Given the description of an element on the screen output the (x, y) to click on. 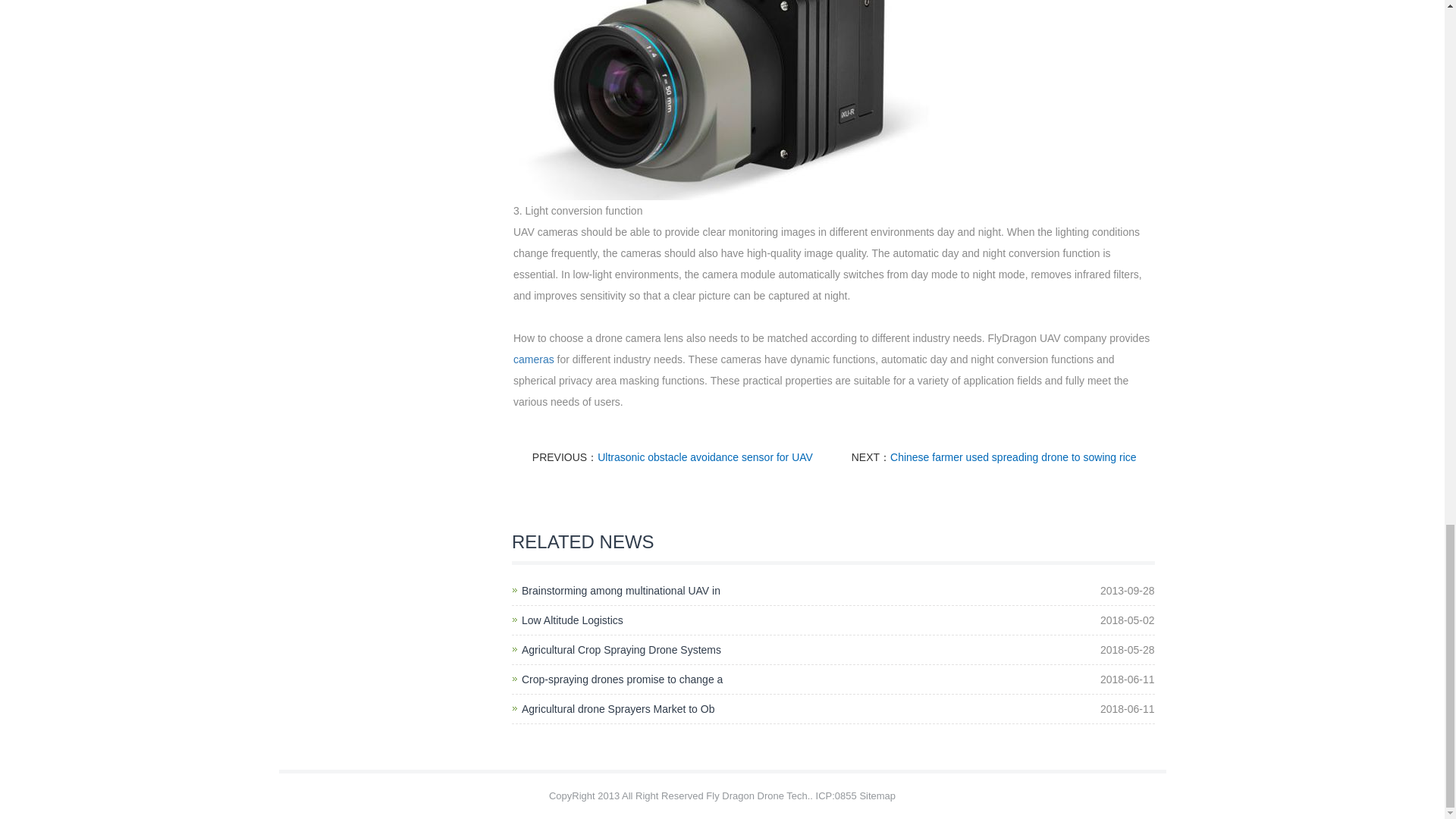
Brainstorming among multinational UAV in (620, 590)
Agricultural Crop Spraying Drone Systems: Worth the Risk? (620, 649)
Low Altitude Logistics (572, 620)
Chinese farmer used spreading drone to sowing rice (1013, 457)
cameras (533, 358)
Ultrasonic obstacle avoidance sensor for UAV (704, 457)
Crop-spraying drones promise to change agriculture (621, 679)
